Given the description of an element on the screen output the (x, y) to click on. 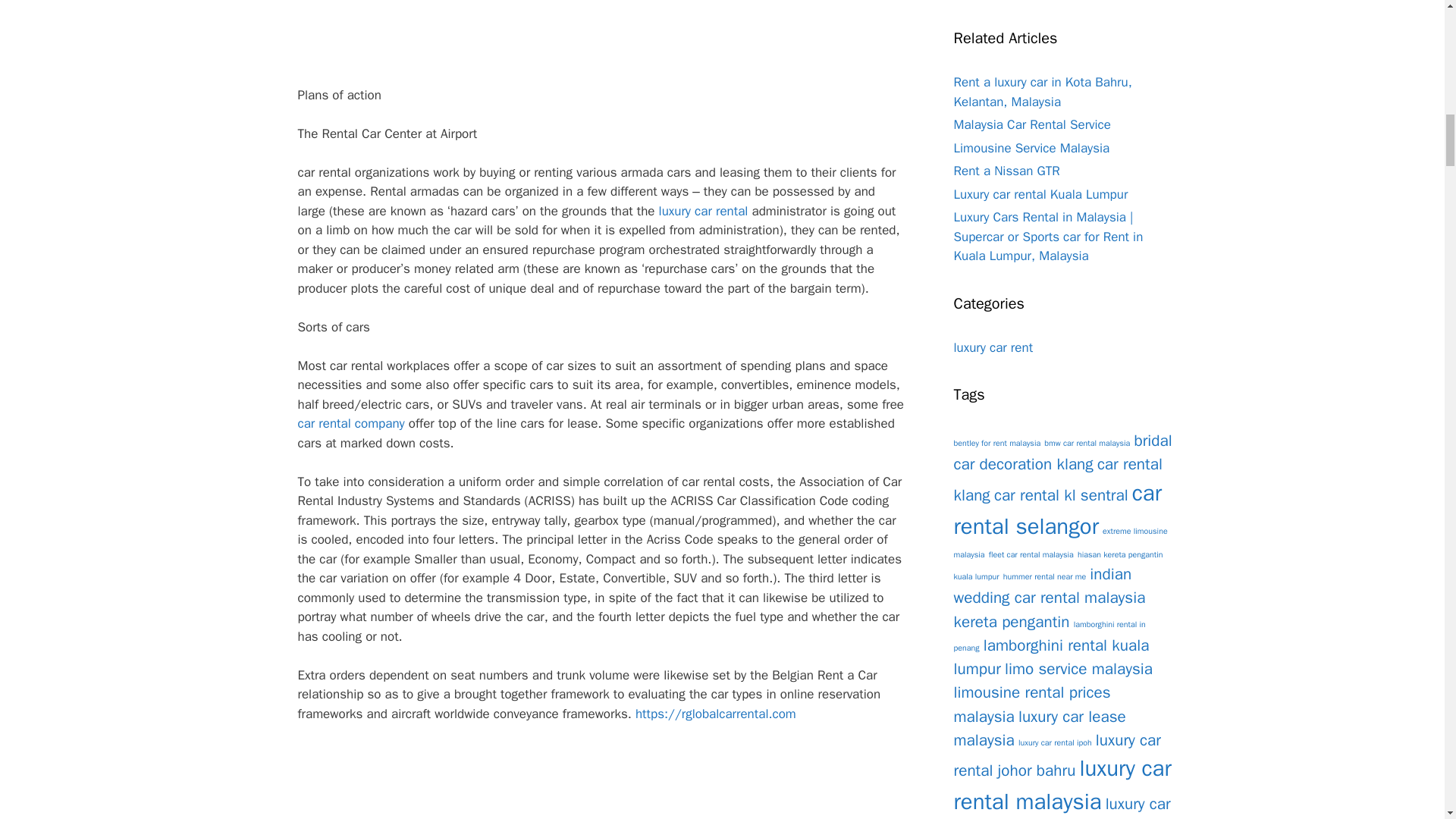
car rental company (350, 423)
luxury car rental (703, 211)
